Given the description of an element on the screen output the (x, y) to click on. 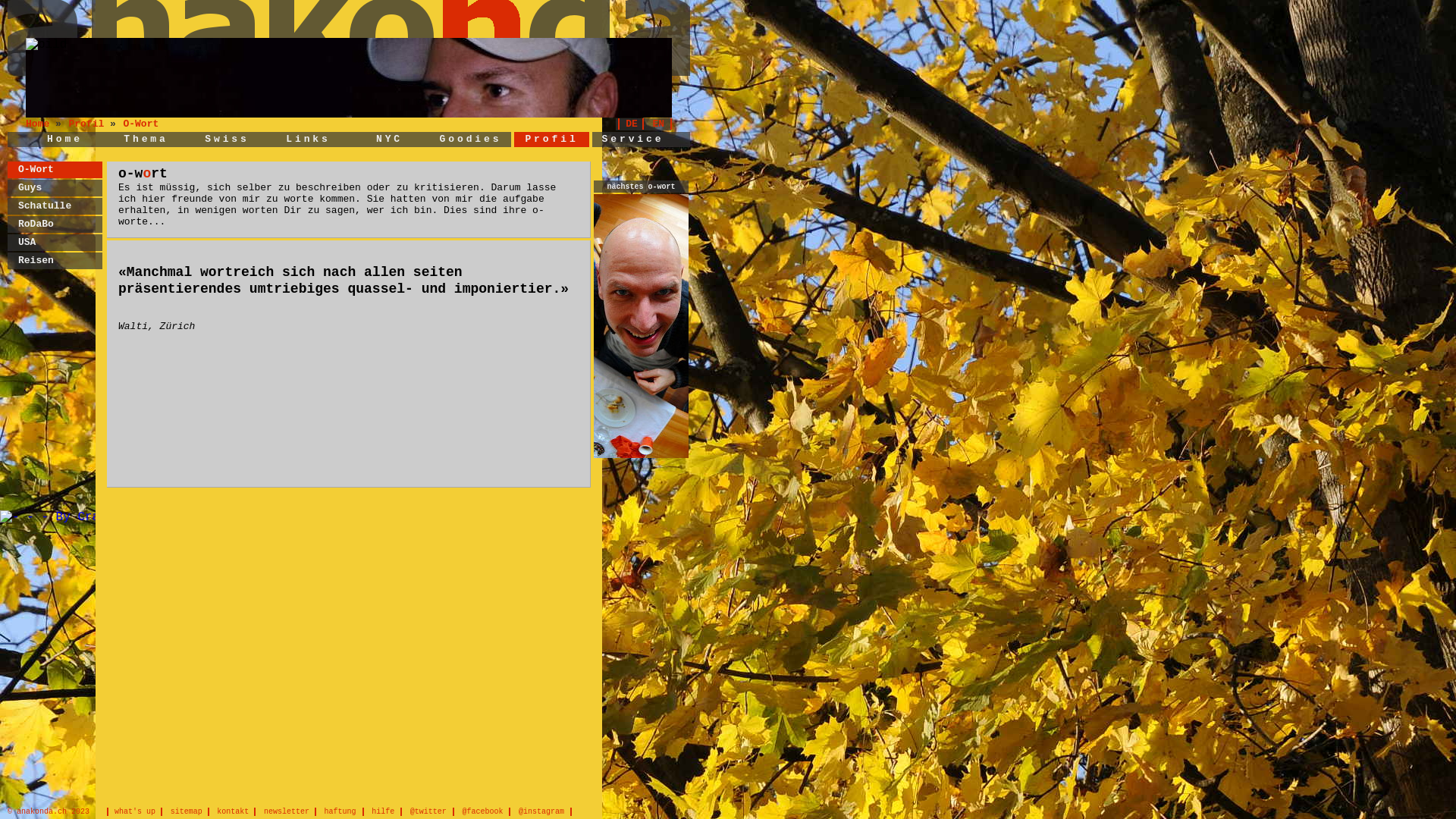
Thema Element type: text (145, 138)
Reisen Element type: text (35, 260)
Ja, dass bin ich - Boa Anakonda! Element type: hover (348, 77)
Schatulle Element type: text (44, 205)
newsletter Element type: text (289, 811)
hilfe Element type: text (385, 811)
what's up Element type: text (134, 811)
Swiss Element type: text (226, 138)
EN Element type: text (660, 123)
Profil Element type: text (550, 138)
haftung Element type: text (343, 811)
O-Wort Element type: text (35, 169)
Guys Element type: text (29, 187)
DE Element type: text (630, 123)
Ja, dass bin ich - Boa Anakonda! Element type: hover (45, 44)
Service Element type: text (633, 138)
Links Element type: text (307, 138)
NYC Element type: text (389, 138)
@twitter Element type: text (431, 811)
Goodies Element type: text (470, 138)
Home Element type: text (64, 138)
Home Element type: text (40, 123)
@facebook Element type: text (485, 811)
RoDaBo Element type: text (35, 223)
Profil Element type: text (88, 123)
USA Element type: text (26, 241)
 - - - By CrazyStat - - -  Element type: hover (93, 517)
@instagram Element type: text (544, 811)
kontakt Element type: text (235, 811)
sitemap Element type: text (189, 811)
O-Wort Element type: text (140, 123)
Boa top to bottom Element type: hover (640, 325)
